Given the description of an element on the screen output the (x, y) to click on. 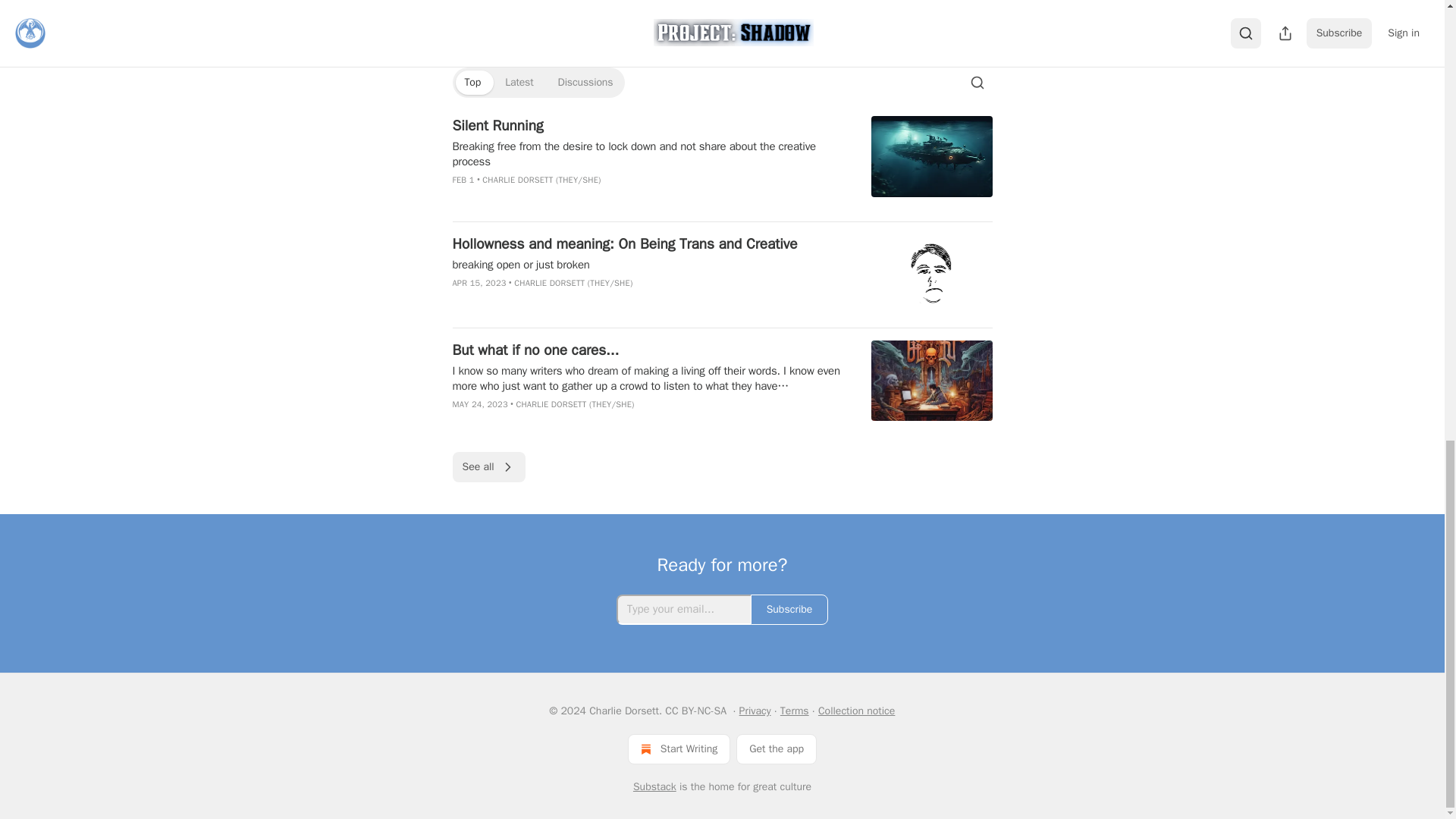
Top (471, 82)
Latest (518, 82)
Discussions (585, 82)
